Given the description of an element on the screen output the (x, y) to click on. 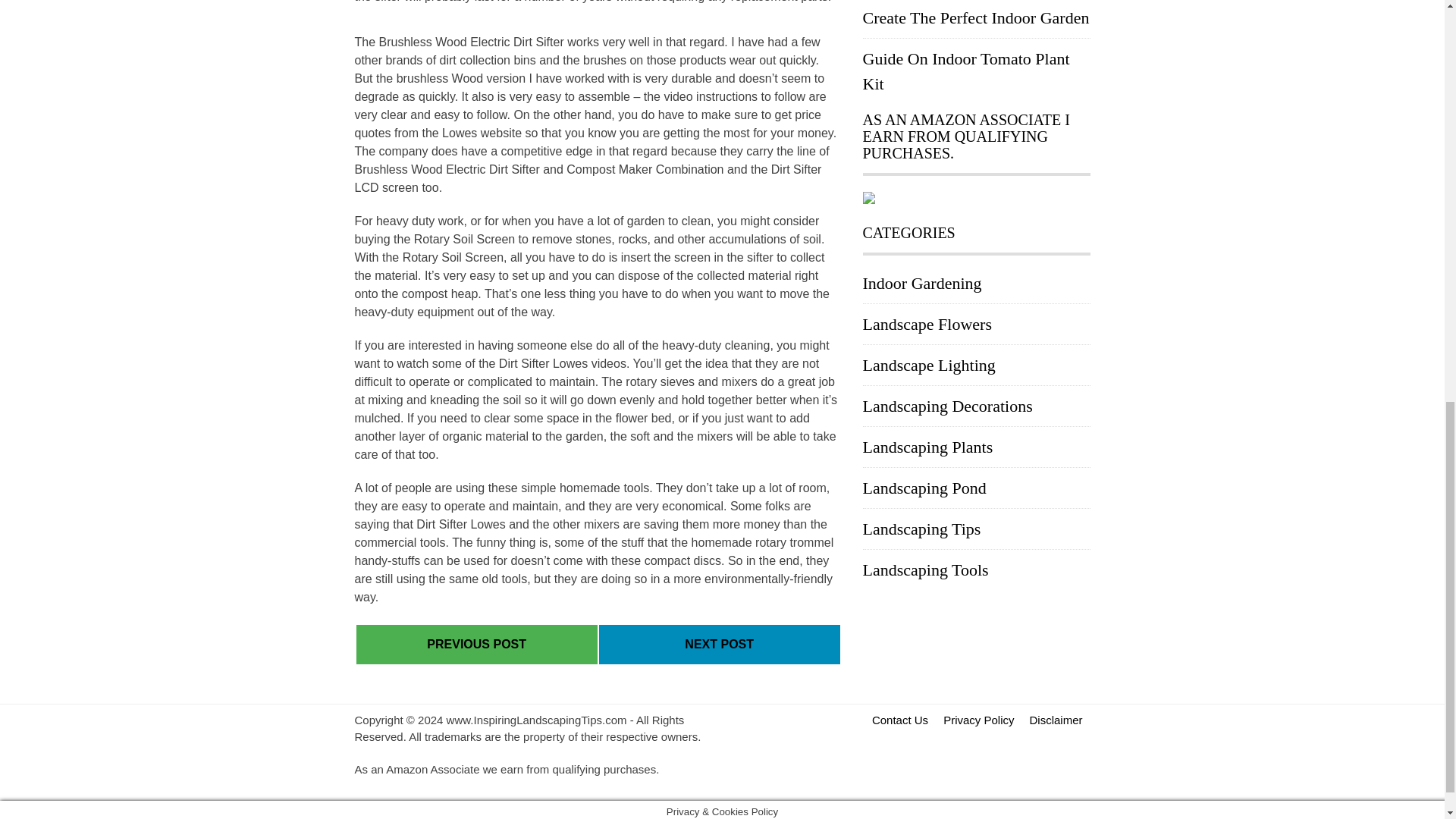
Landscaping Tools (925, 569)
What Are the Best Cordless Lawn Tools? (476, 644)
Indoor Gardening (922, 282)
Guide On Indoor Tomato Plant Kit (966, 71)
Contact Us (900, 719)
Landscaping Plants (927, 446)
NEXT POST (719, 644)
What is So Special About the Deutsch Allis Lawn Tractor? (718, 644)
Landscaping Decorations (947, 405)
Privacy Policy (979, 719)
